Given the description of an element on the screen output the (x, y) to click on. 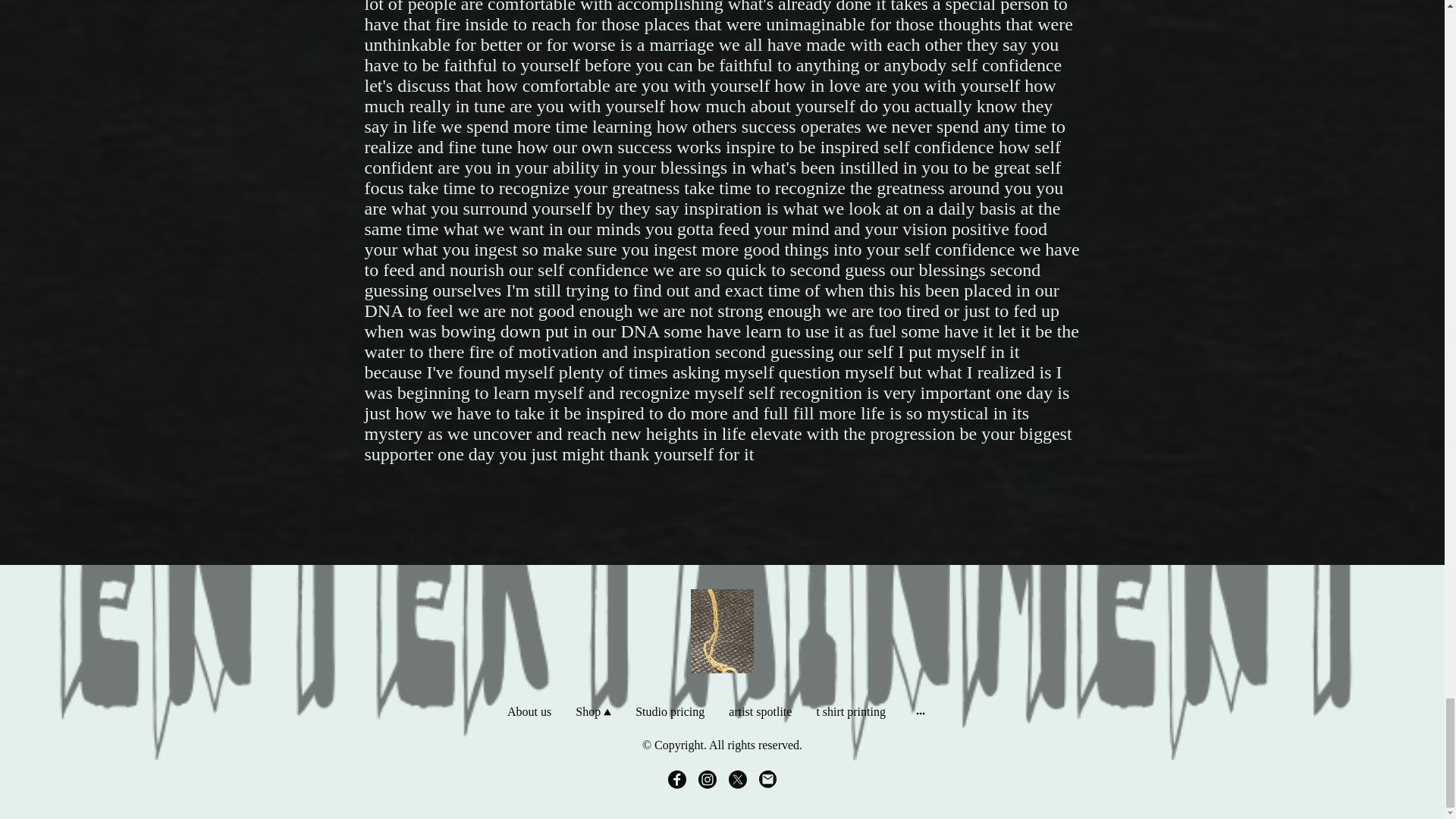
About us (529, 711)
